Given the description of an element on the screen output the (x, y) to click on. 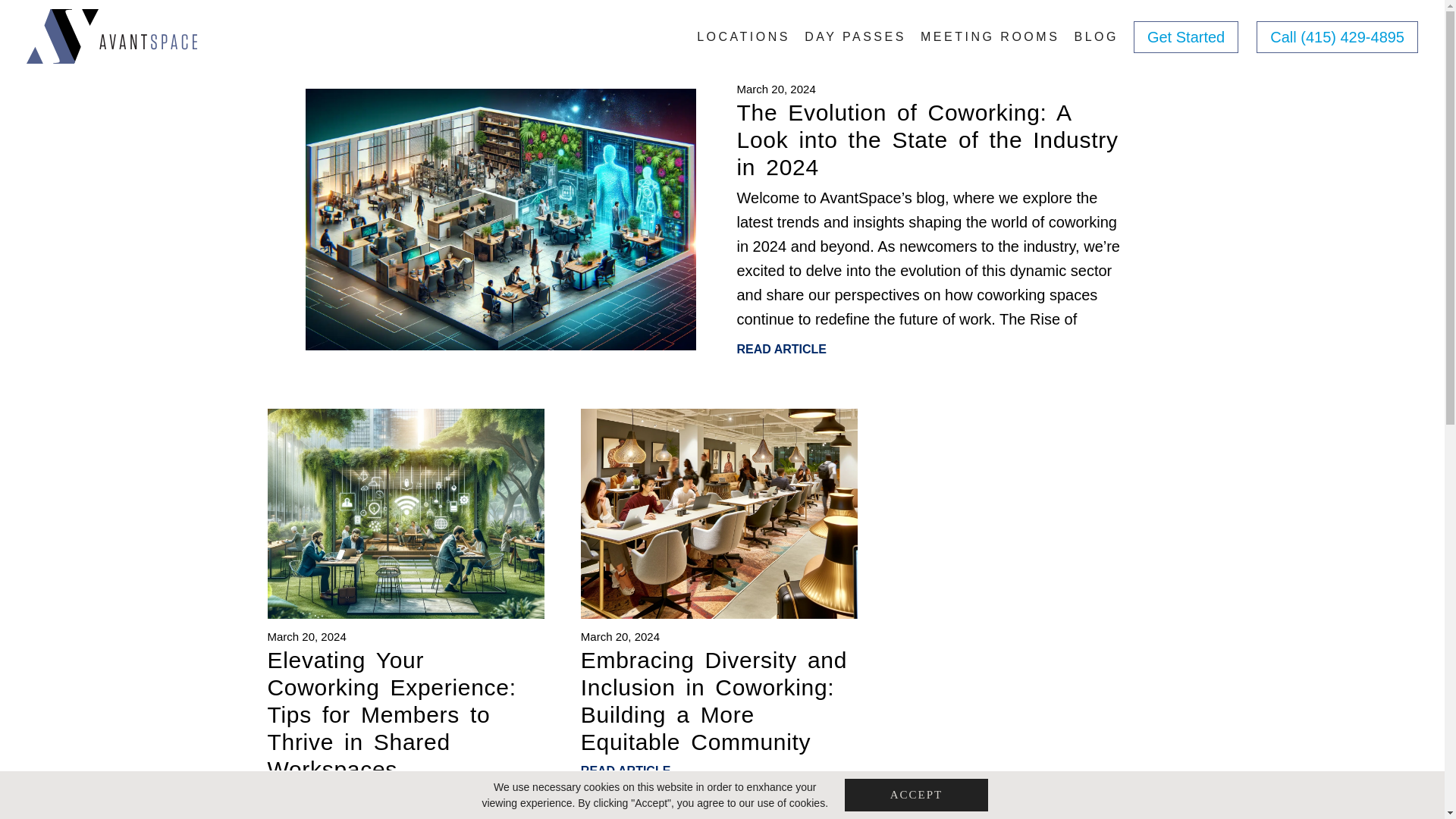
GET STARTED (716, 437)
Day Passes (855, 42)
Get Started (1186, 37)
Meeting Rooms (989, 42)
BLOG (1096, 42)
READ ARTICLE (718, 770)
READ ARTICLE (781, 349)
LOCATIONS (743, 42)
MEETING ROOMS (989, 42)
DAY PASSES (855, 42)
READ ARTICLE (404, 798)
